Given the description of an element on the screen output the (x, y) to click on. 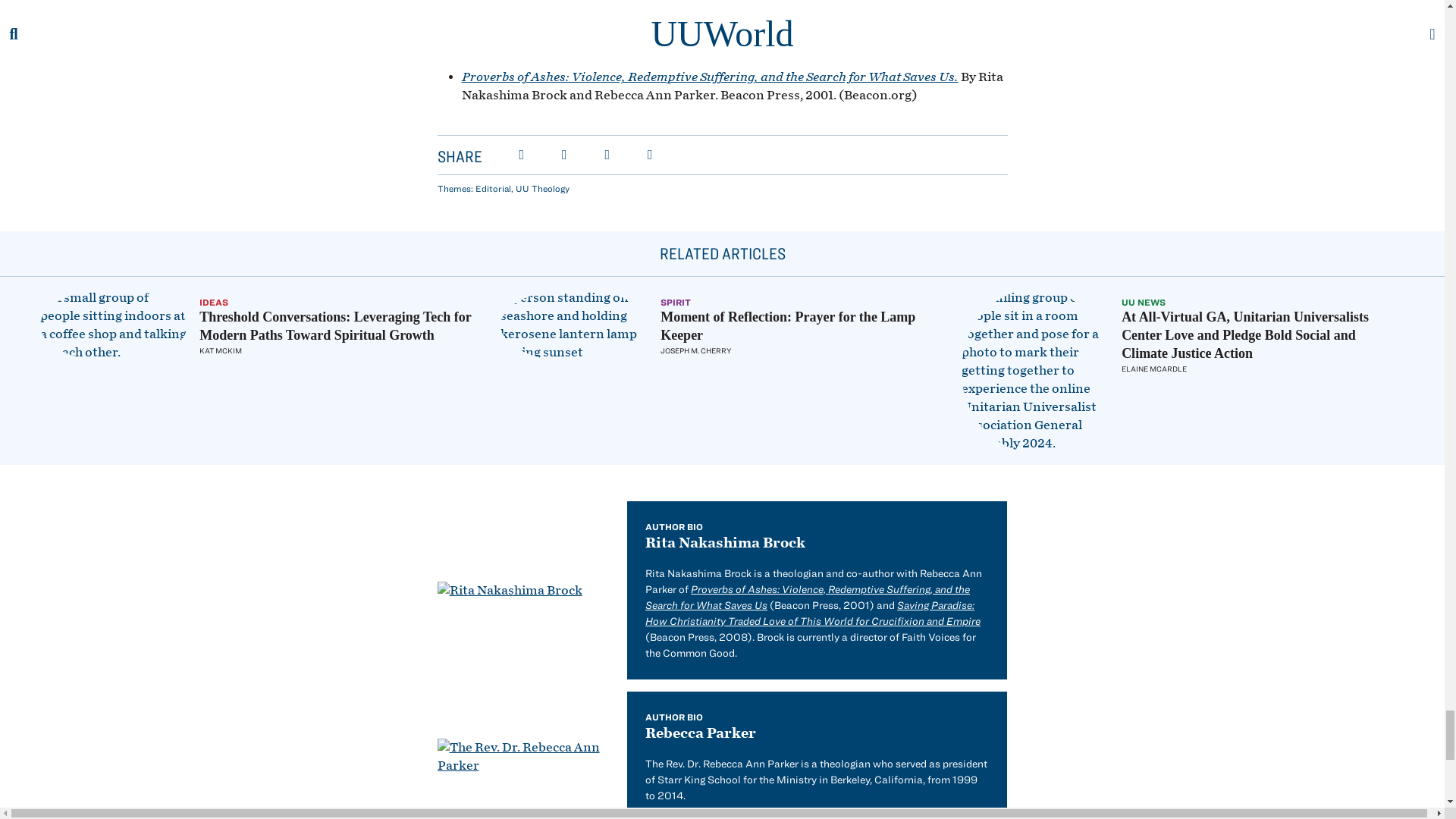
Moment of Reflection: Prayer for the Lamp Keeper (788, 326)
UU Theology (542, 187)
Editorial (492, 187)
